Given the description of an element on the screen output the (x, y) to click on. 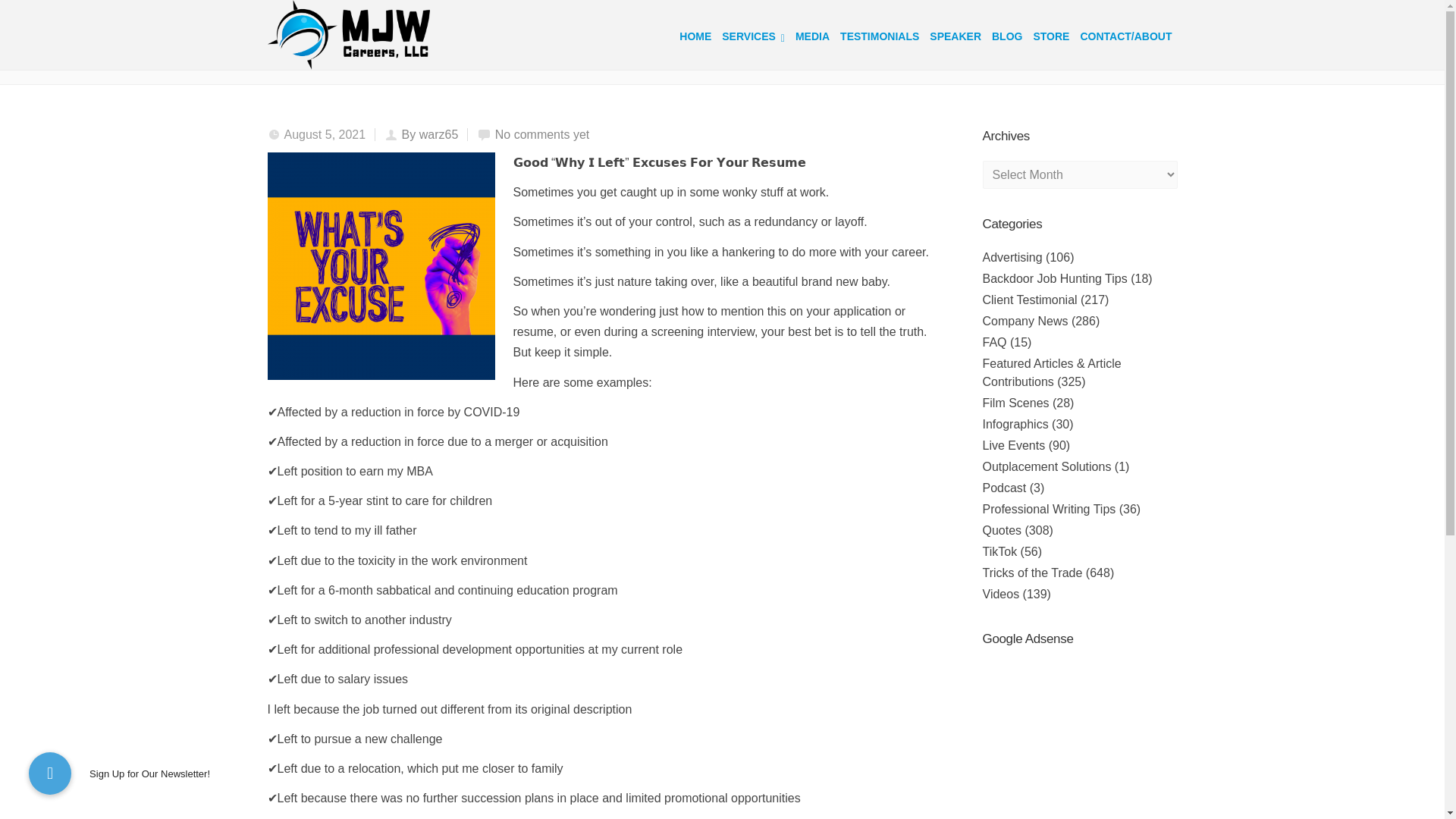
Backdoor Job Hunting Tips (1054, 278)
TESTIMONIALS (879, 34)
FAQ (994, 341)
Home (831, 41)
Client Testimonial (1029, 299)
No comments yet (542, 133)
SPEAKER (955, 34)
Company News (1025, 320)
By warz65 (429, 133)
Tricks of the Trade (899, 41)
